Given the description of an element on the screen output the (x, y) to click on. 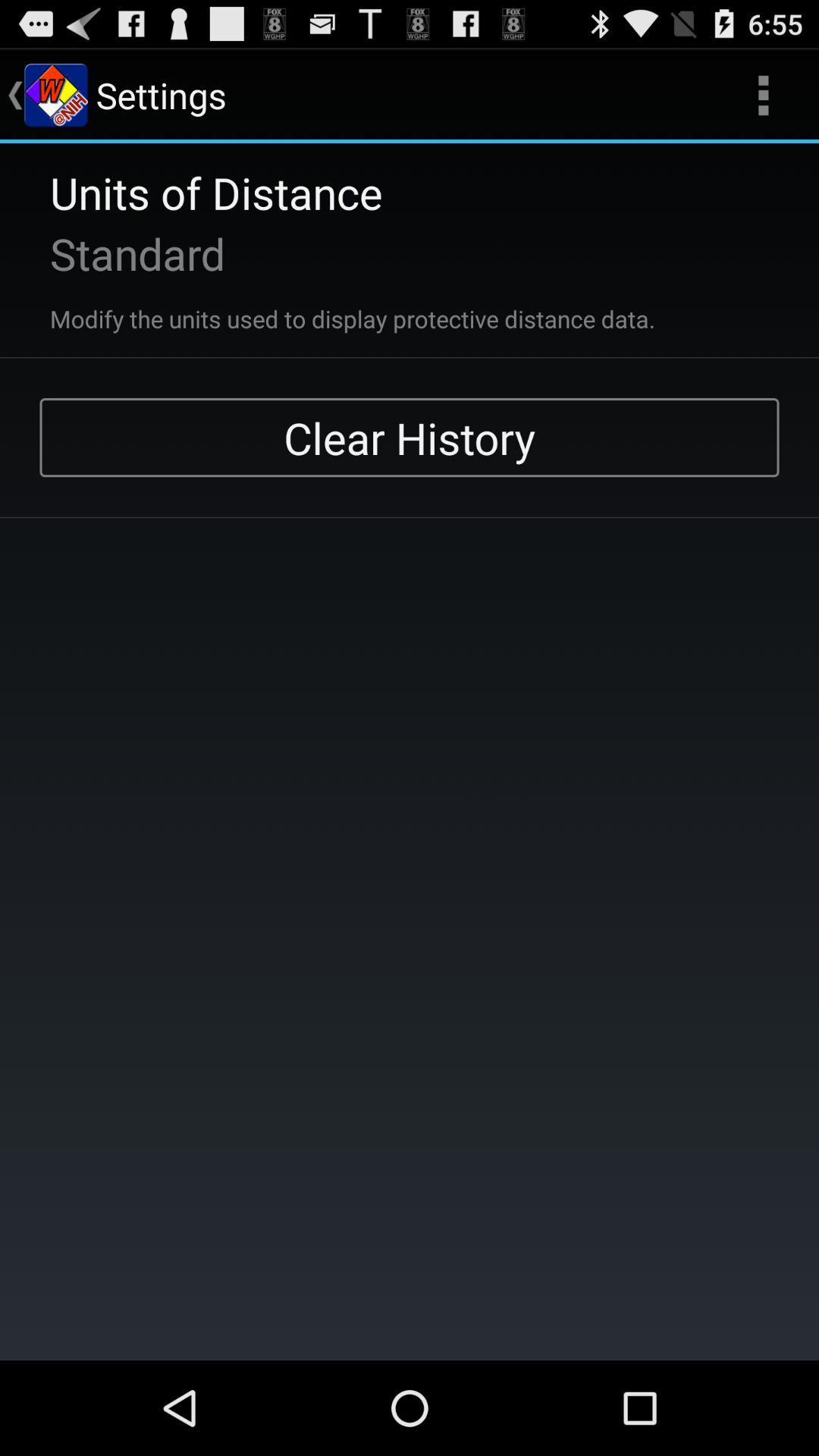
tap the app below the units of distance icon (117, 253)
